Given the description of an element on the screen output the (x, y) to click on. 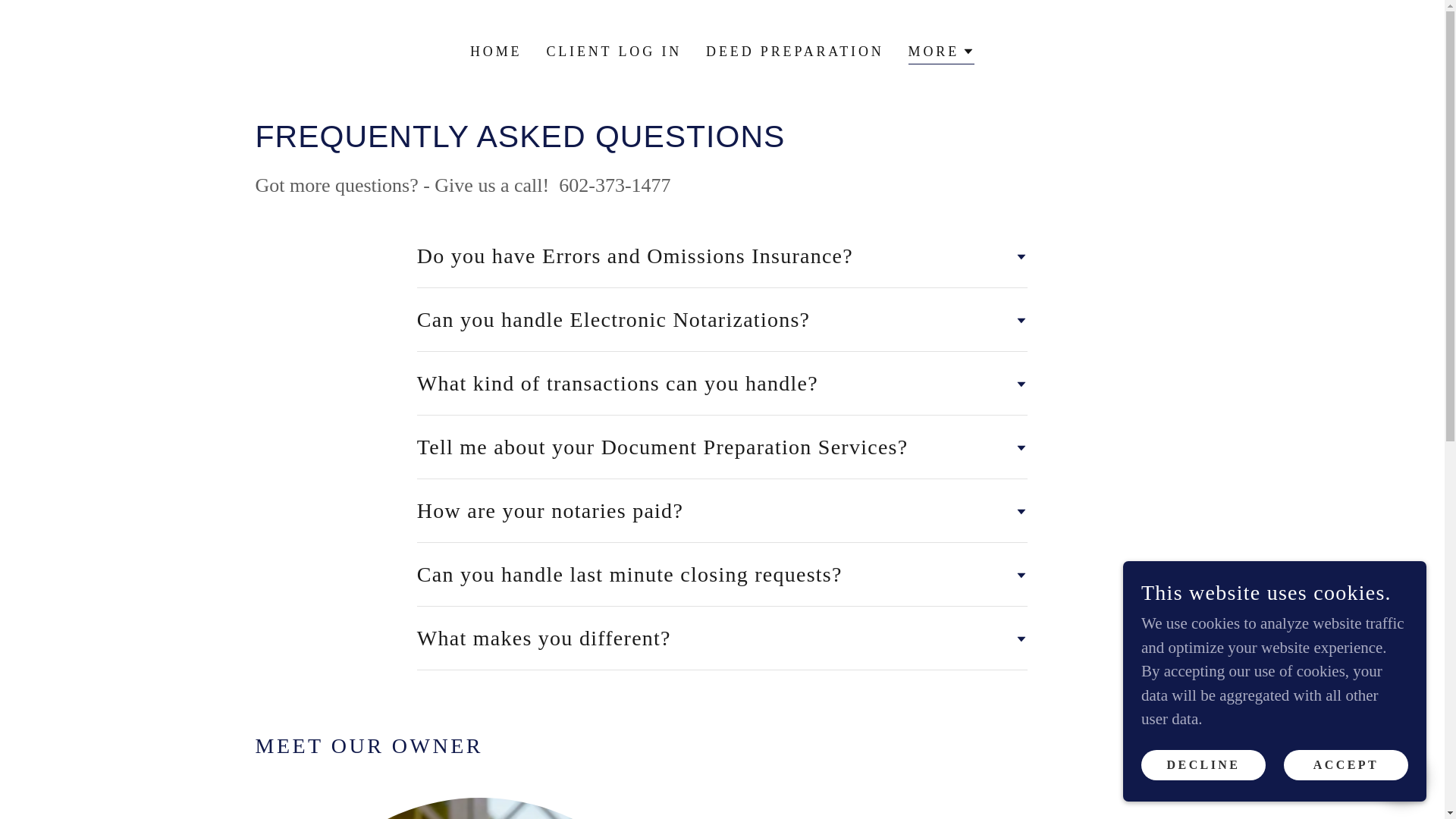
Tell me about your Document Preparation Services? (721, 446)
How are your notaries paid? (721, 510)
ACCEPT (1345, 764)
Can you handle Electronic Notarizations? (721, 319)
What kind of transactions can you handle? (721, 382)
Do you have Errors and Omissions Insurance? (721, 255)
DEED PREPARATION (794, 51)
What makes you different? (721, 638)
MORE (941, 53)
CLIENT LOG IN (613, 51)
